Given the description of an element on the screen output the (x, y) to click on. 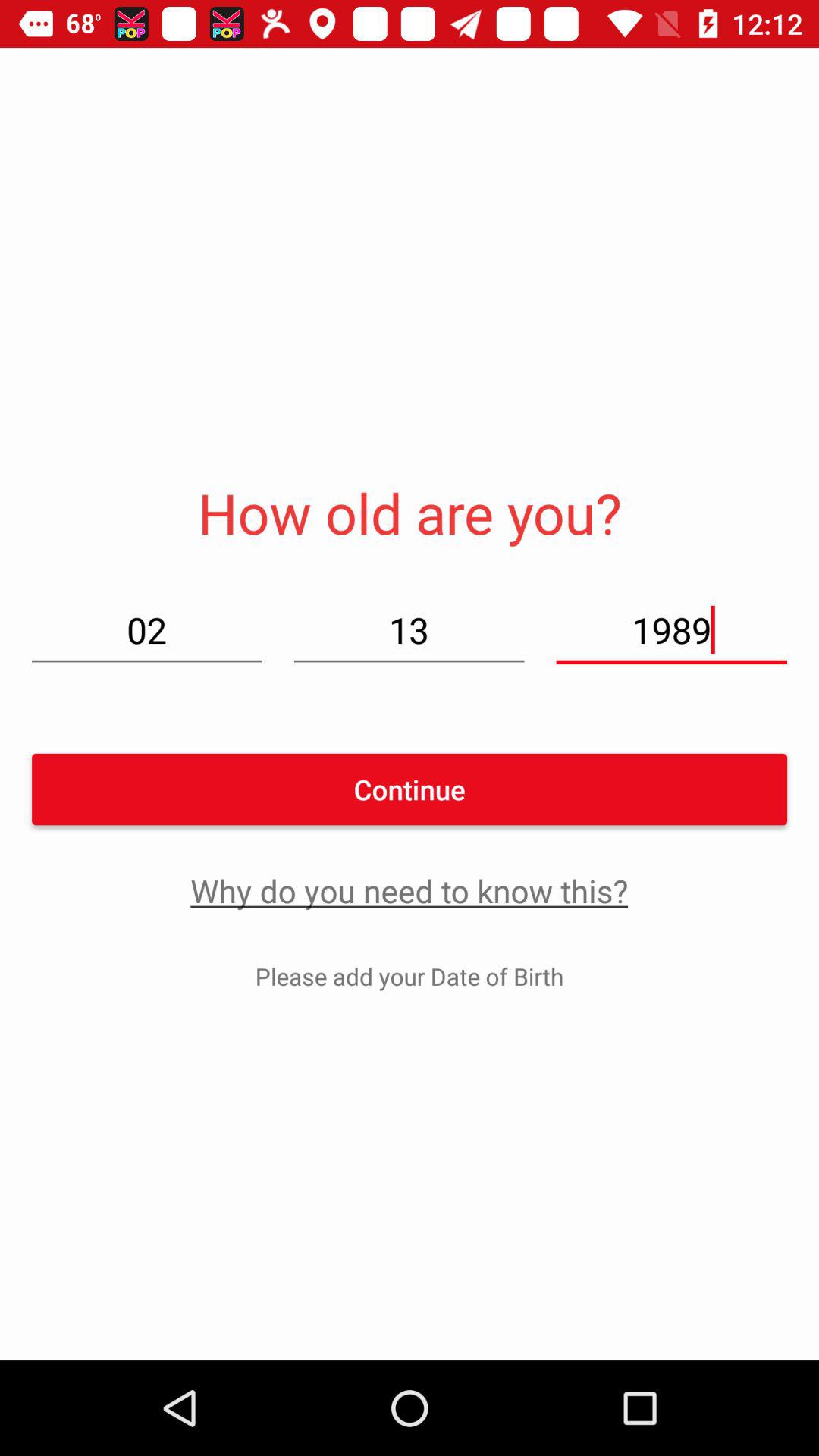
open 1989 icon (671, 629)
